Given the description of an element on the screen output the (x, y) to click on. 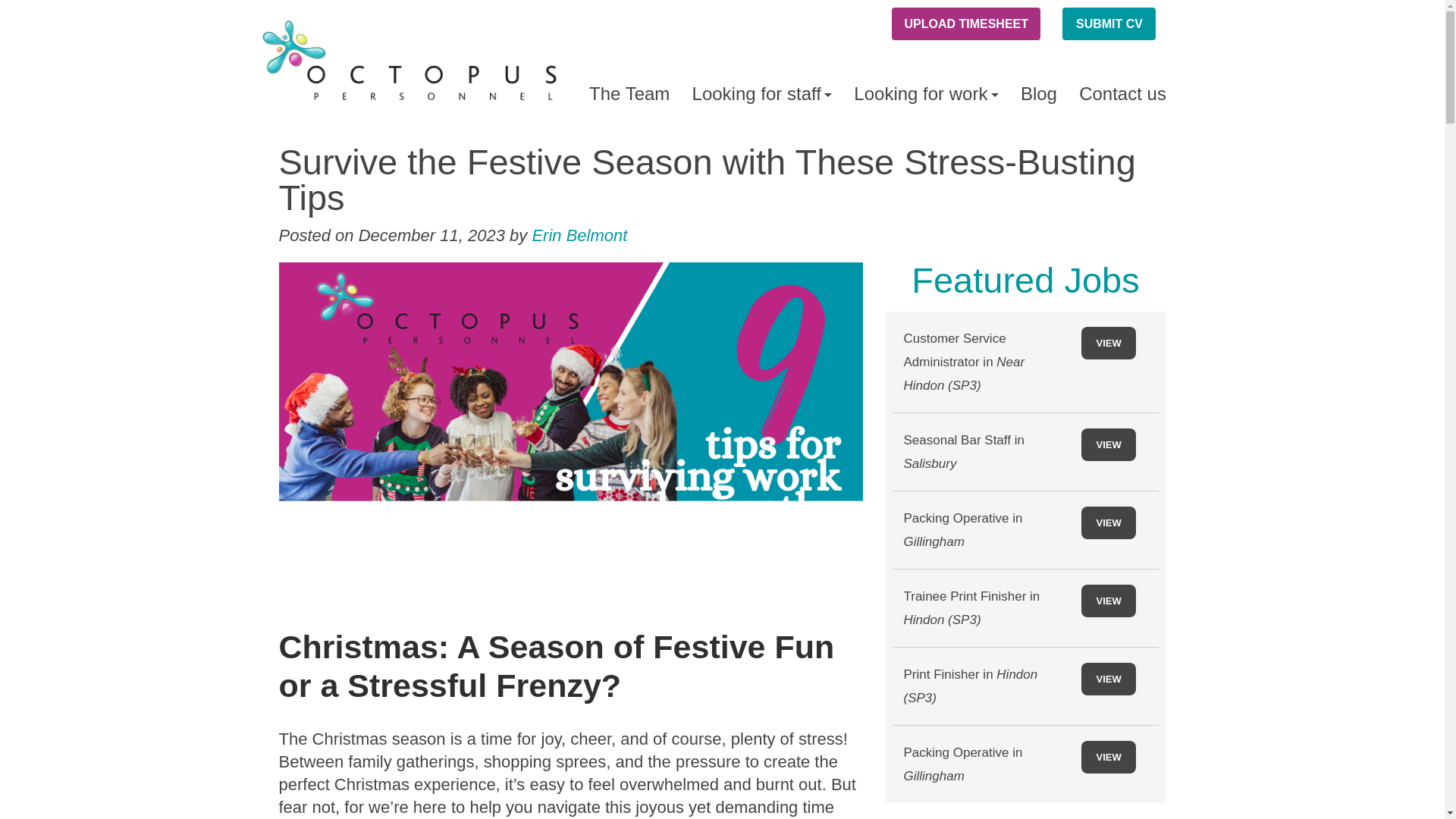
SUBMIT CV (1109, 23)
UPLOAD TIMESHEET (966, 23)
Blog (1038, 93)
Looking for work (926, 93)
The Team (628, 93)
Contact us (1122, 93)
The Team (628, 93)
Looking for staff (762, 93)
VIEW (1108, 342)
December 11, 2023 (431, 235)
Looking for staff (762, 93)
